Given the description of an element on the screen output the (x, y) to click on. 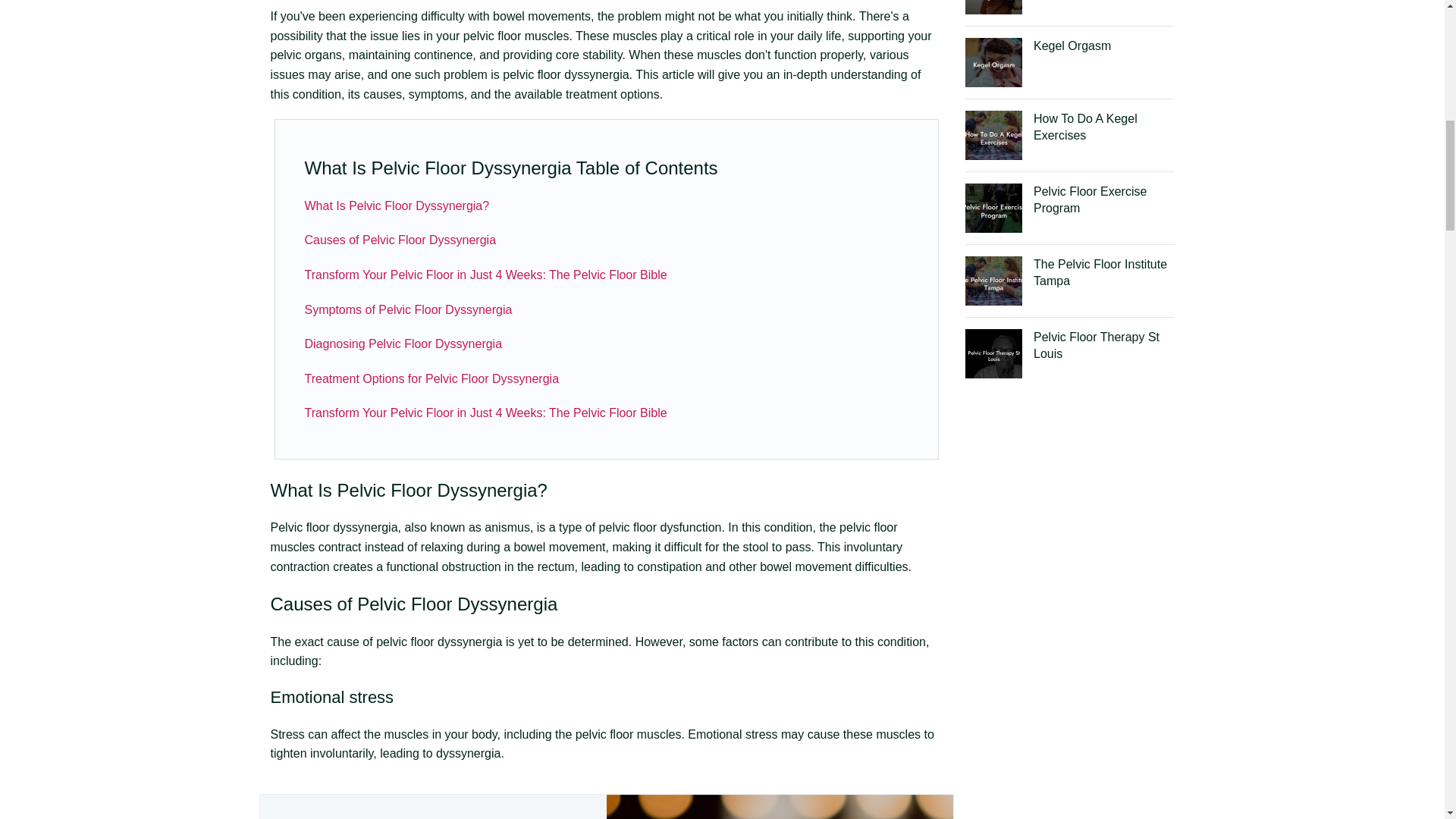
Diagnosing Pelvic Floor Dyssynergia (403, 343)
What Is Pelvic Floor Dyssynergia? (396, 205)
Causes of Pelvic Floor Dyssynergia (400, 239)
Treatment Options for Pelvic Floor Dyssynergia (431, 378)
Symptoms of Pelvic Floor Dyssynergia (408, 309)
